Given the description of an element on the screen output the (x, y) to click on. 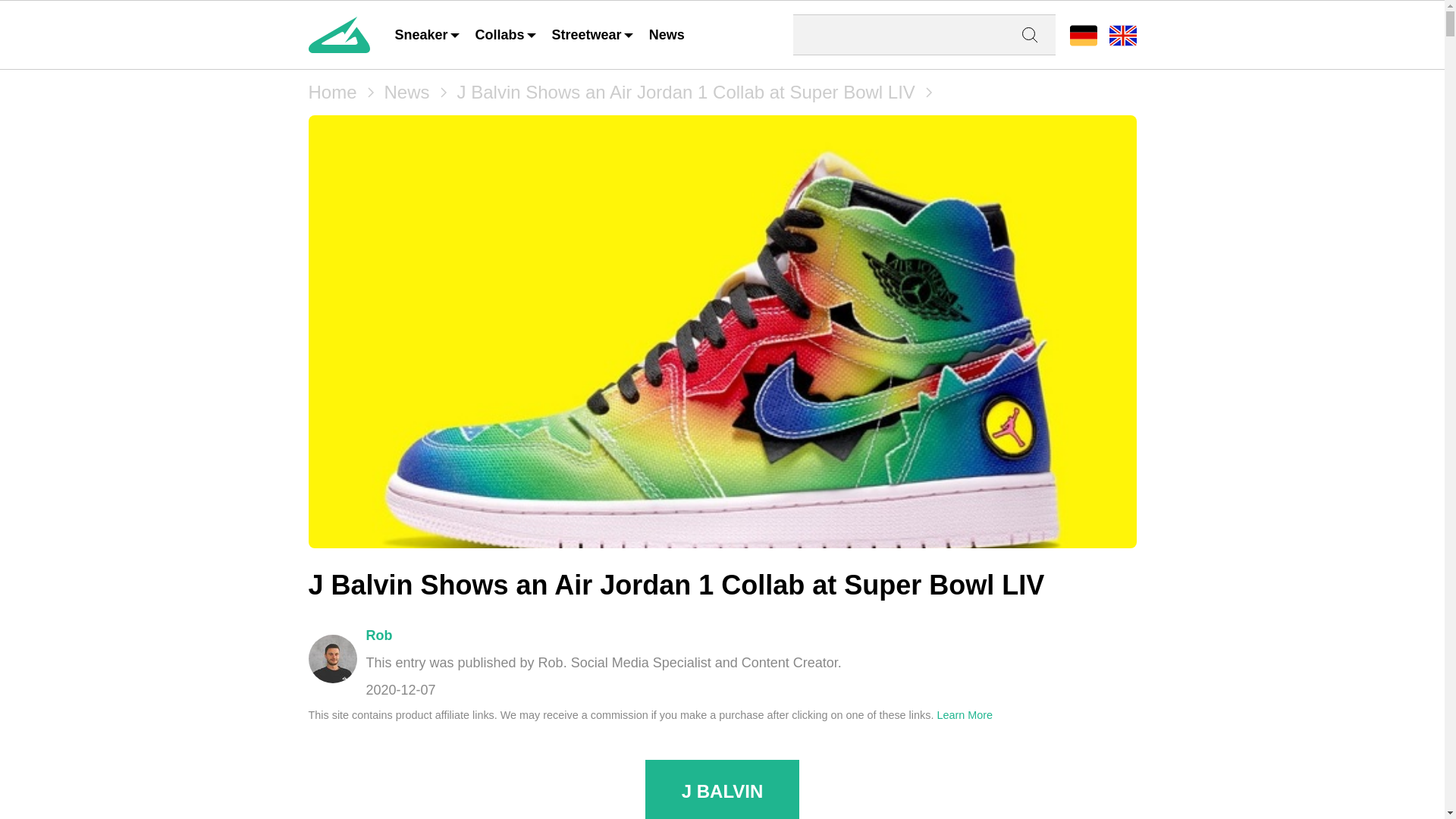
News (406, 92)
Streetwear (592, 34)
Rob (331, 658)
Home (331, 92)
J Balvin Shows an Air Jordan 1 Collab at Super Bowl LIV (686, 92)
J BALVIN (722, 791)
Rob (378, 635)
Collabs (507, 34)
Learn More (964, 715)
Sneaker (427, 34)
